Given the description of an element on the screen output the (x, y) to click on. 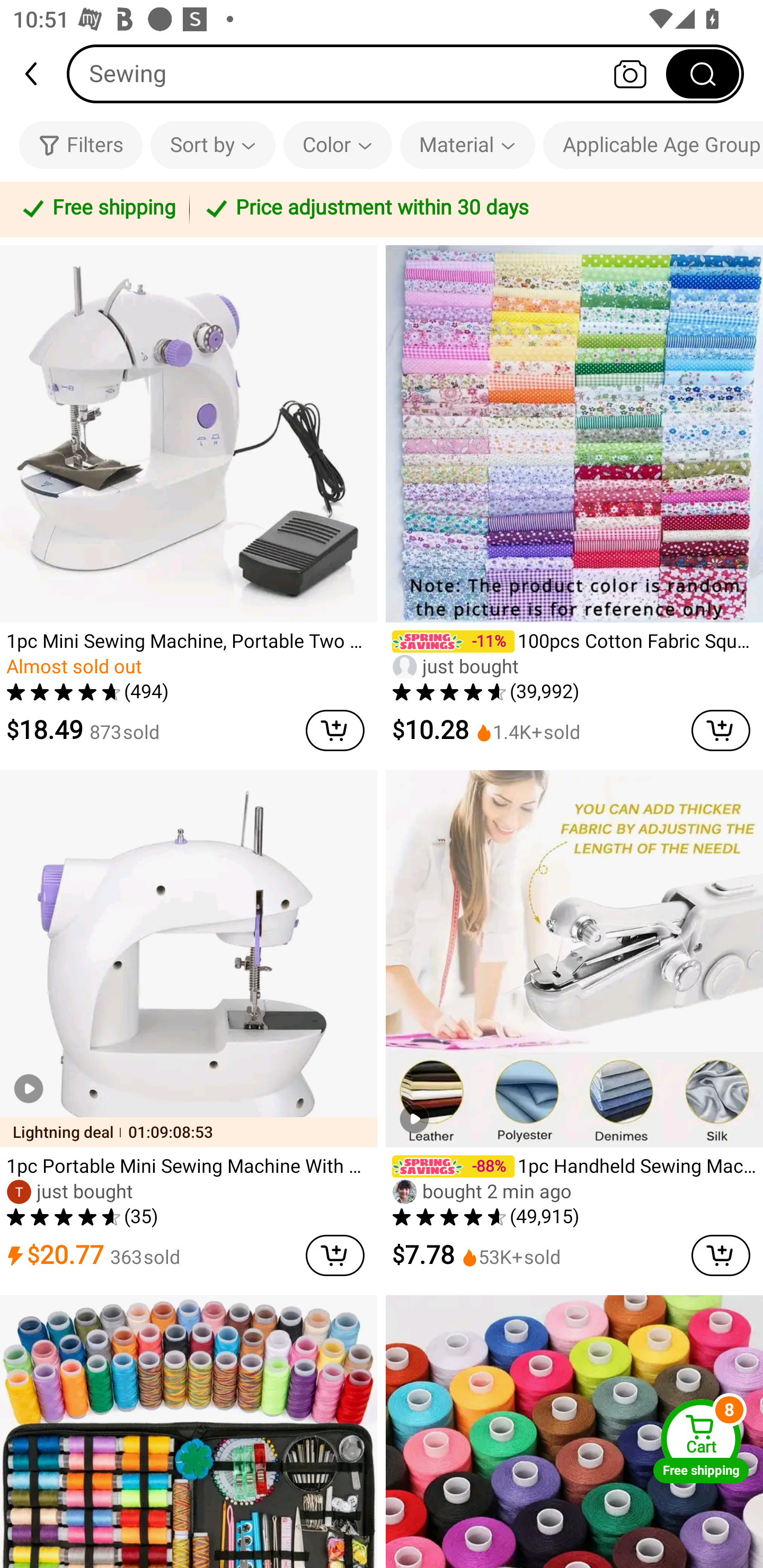
back (39, 73)
Sewing (405, 73)
Filters (80, 144)
Sort by (212, 144)
Color (337, 144)
Material (466, 144)
Applicable Age Group (653, 144)
Free shipping (97, 209)
Price adjustment within 30 days (472, 209)
cart delete (334, 730)
cart delete (720, 730)
cart delete (334, 1255)
cart delete (720, 1255)
Cart Free shipping Cart (701, 1440)
